Given the description of an element on the screen output the (x, y) to click on. 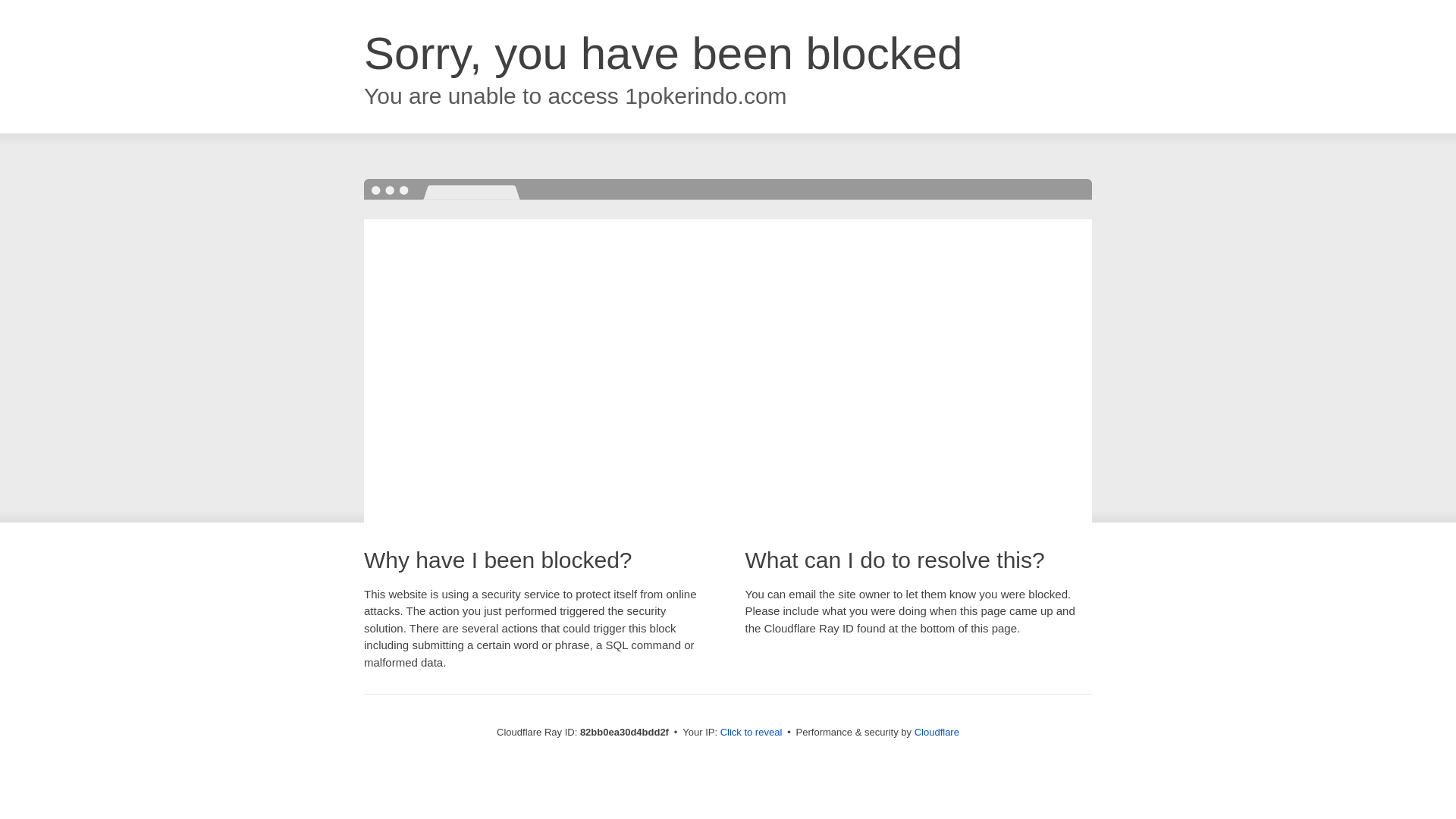
Click to reveal Element type: text (751, 732)
Cloudflare Element type: text (936, 731)
